Given the description of an element on the screen output the (x, y) to click on. 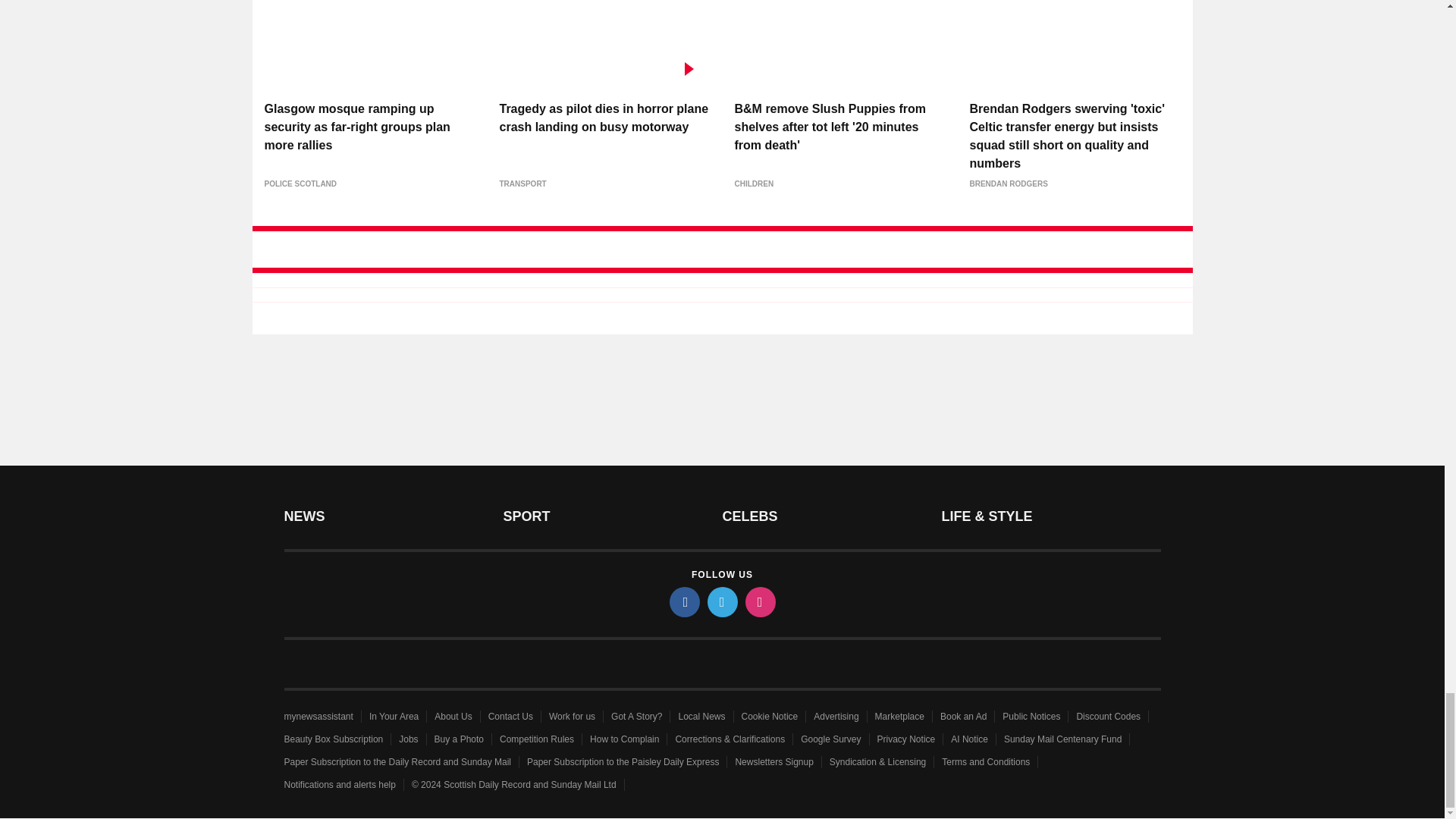
twitter (721, 602)
instagram (759, 602)
facebook (683, 602)
